Given the description of an element on the screen output the (x, y) to click on. 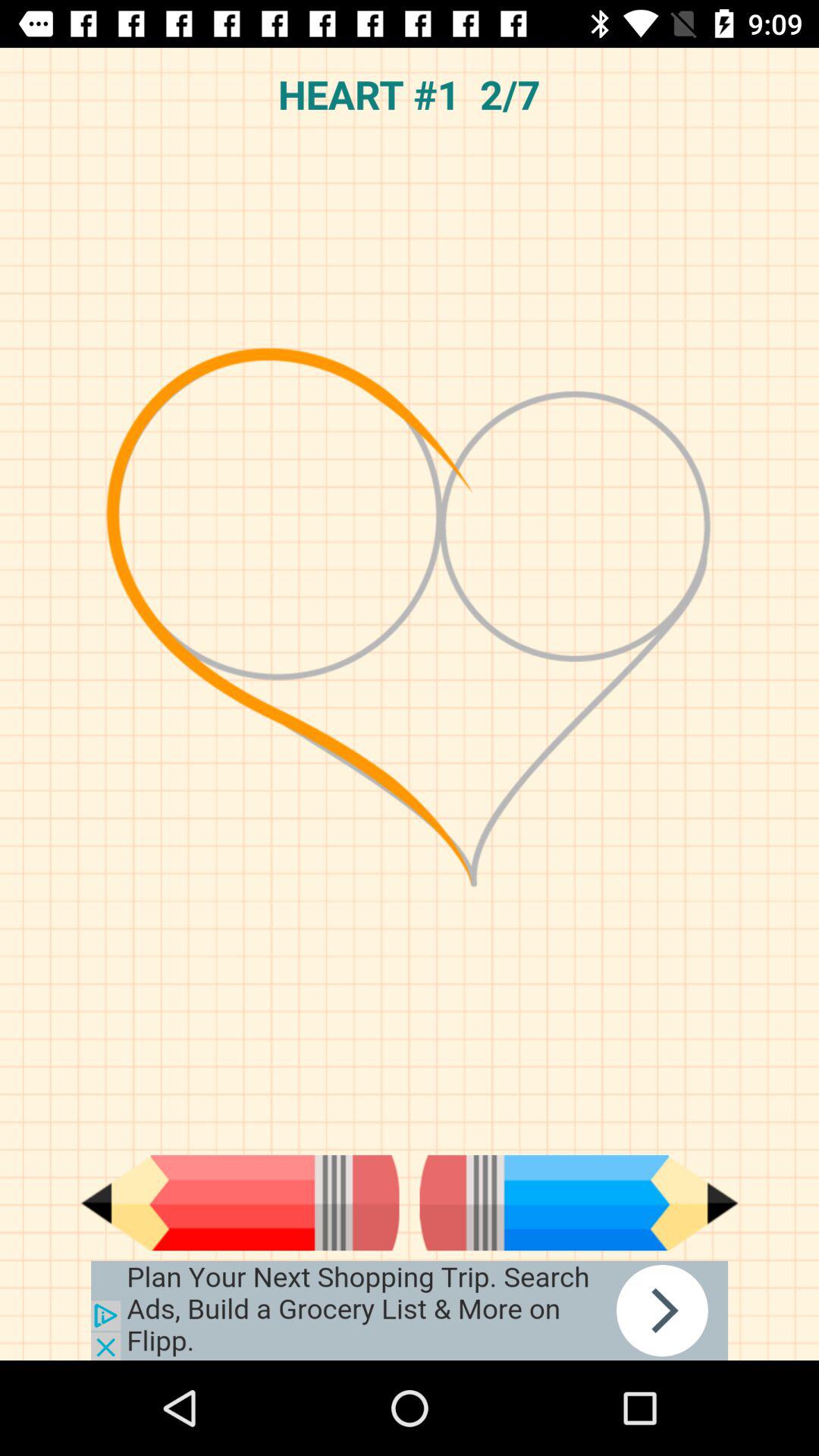
select pencil type (578, 1202)
